Given the description of an element on the screen output the (x, y) to click on. 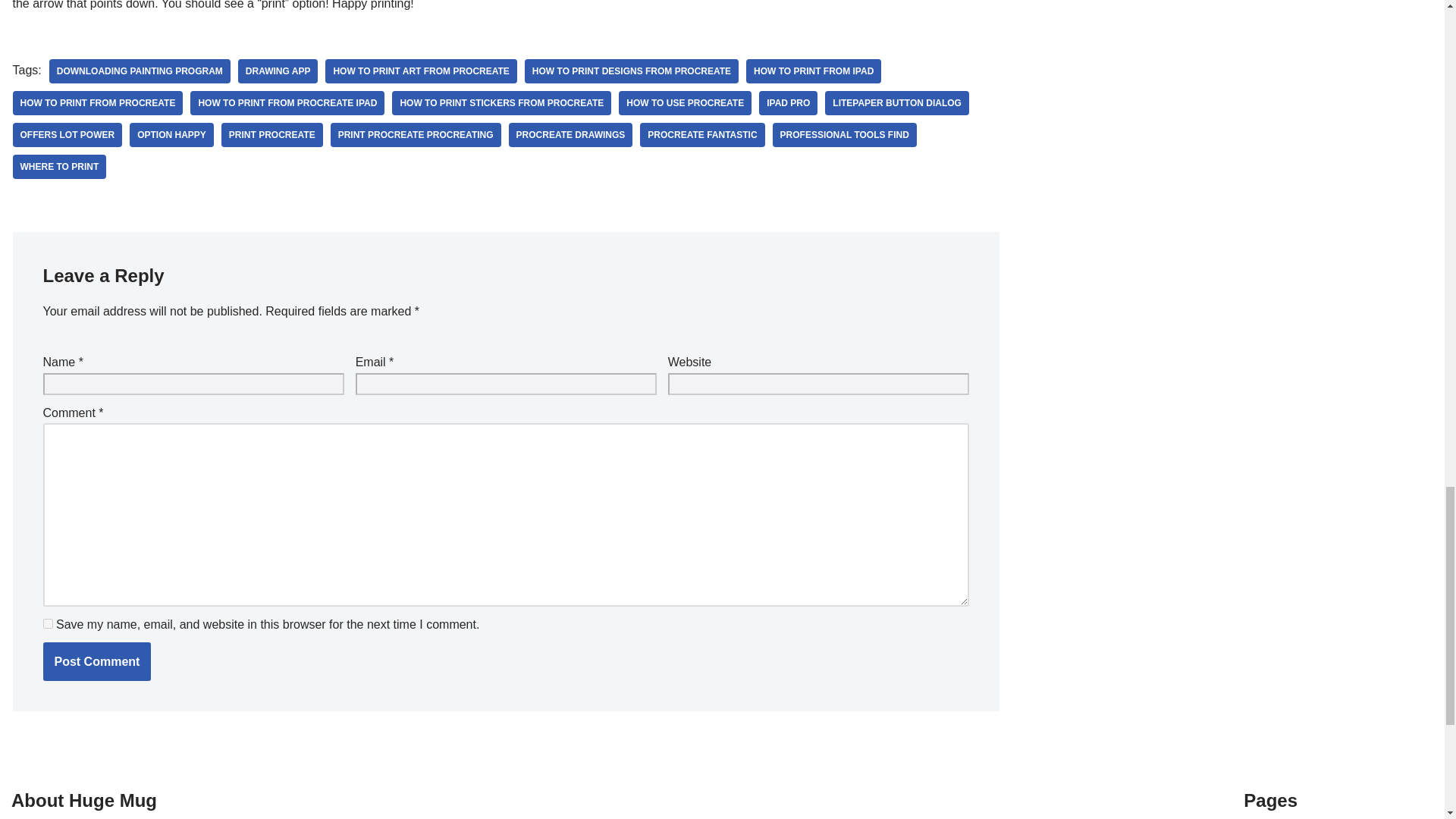
Litepaper Button Dialog (897, 102)
How To Print From Procreate (97, 102)
Post Comment (96, 661)
yes (47, 623)
Downloading Painting Program (139, 70)
How To Print From Ipad (812, 70)
How To Print Stickers From Procreate (501, 102)
How To Print From Procreate Ipad (287, 102)
How To Print Designs From Procreate (631, 70)
How To Use Procreate (684, 102)
